Given the description of an element on the screen output the (x, y) to click on. 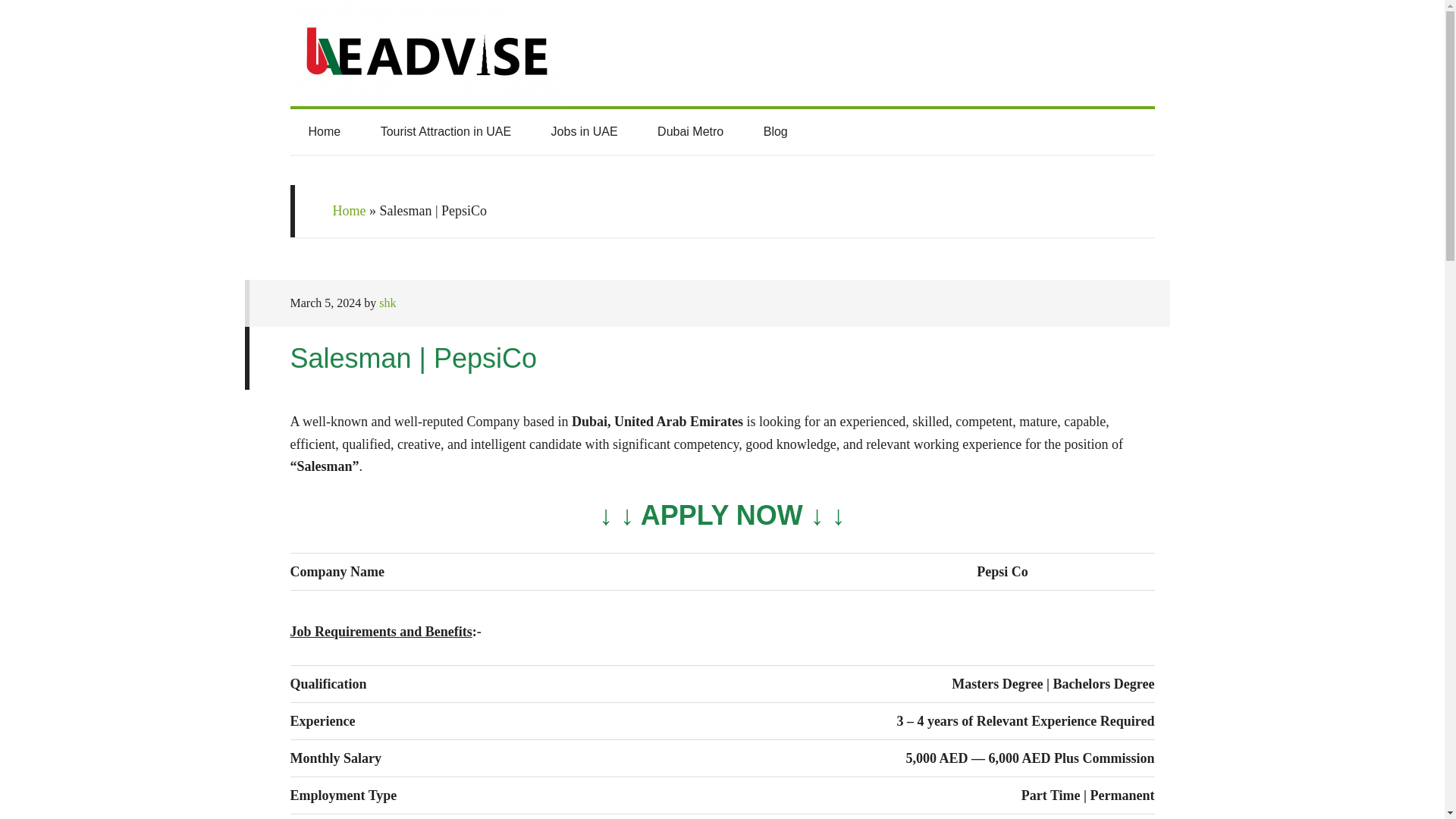
Tourist Attraction in UAE (445, 131)
Dubai Metro (690, 131)
Blog (775, 131)
Home (348, 210)
UAE Advise (721, 53)
shk (387, 302)
Home (323, 131)
Jobs in UAE (584, 131)
